Given the description of an element on the screen output the (x, y) to click on. 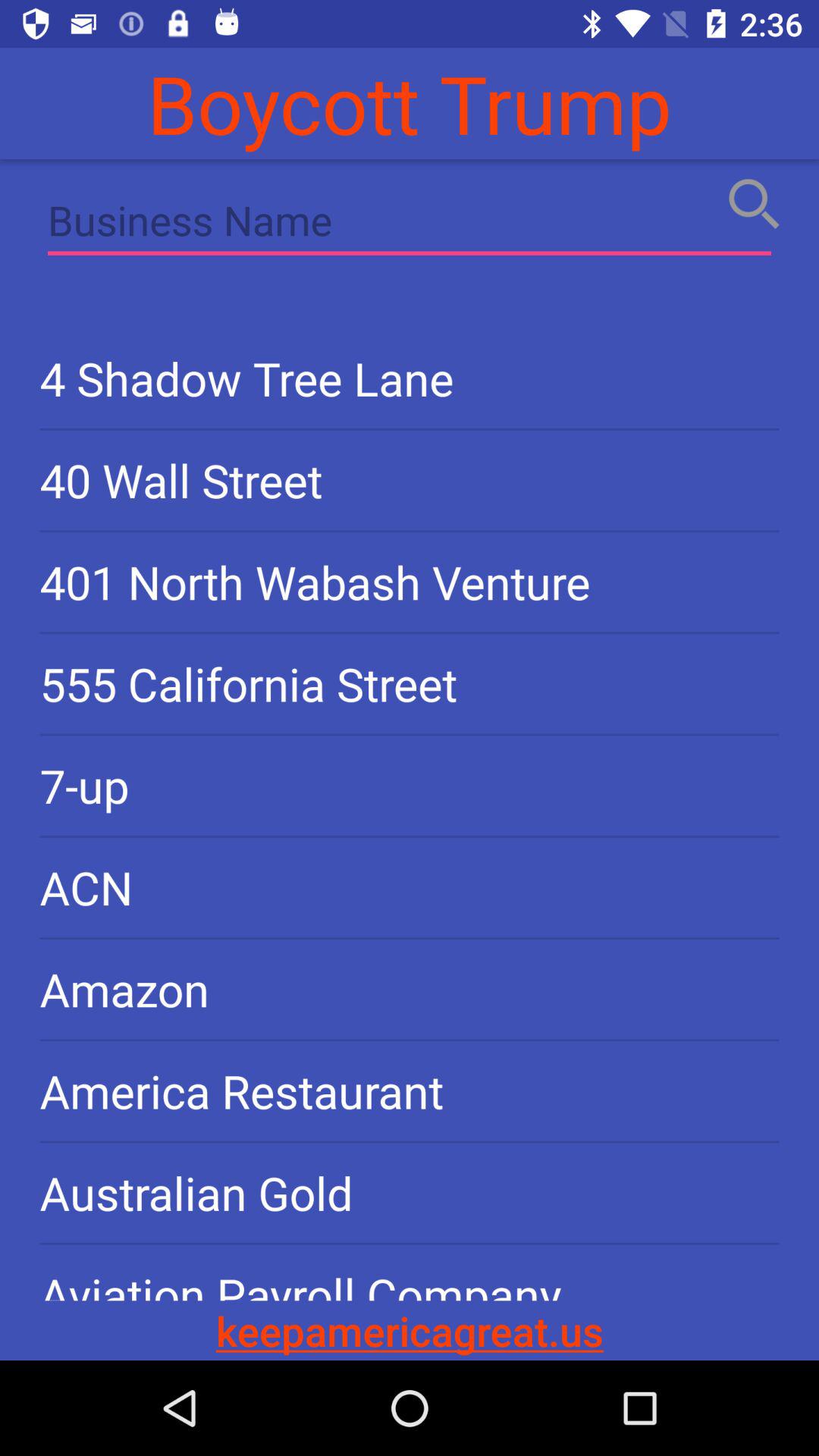
press the 555 california street (409, 683)
